Given the description of an element on the screen output the (x, y) to click on. 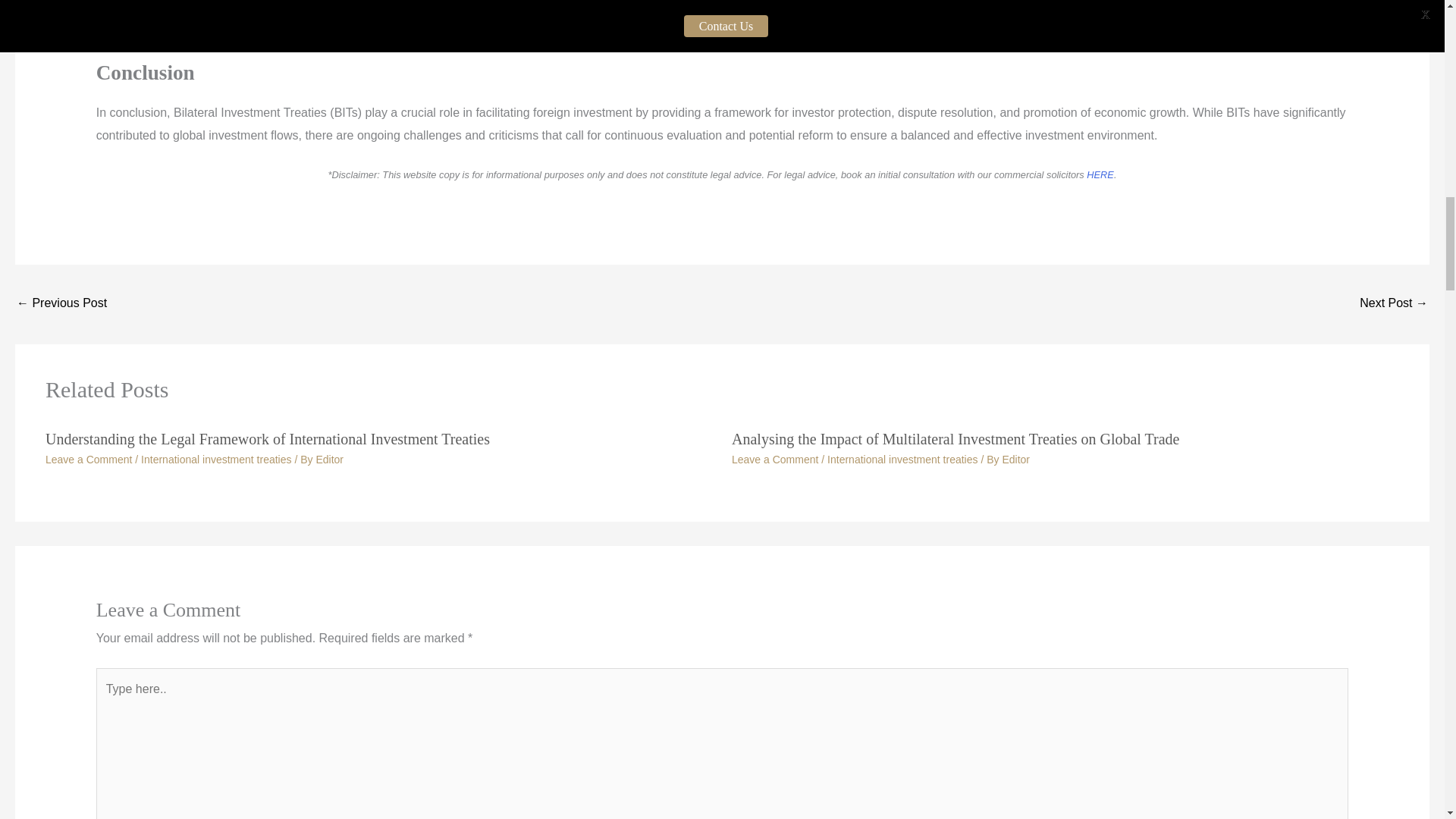
View all posts by Editor (329, 459)
View all posts by Editor (1015, 459)
